Given the description of an element on the screen output the (x, y) to click on. 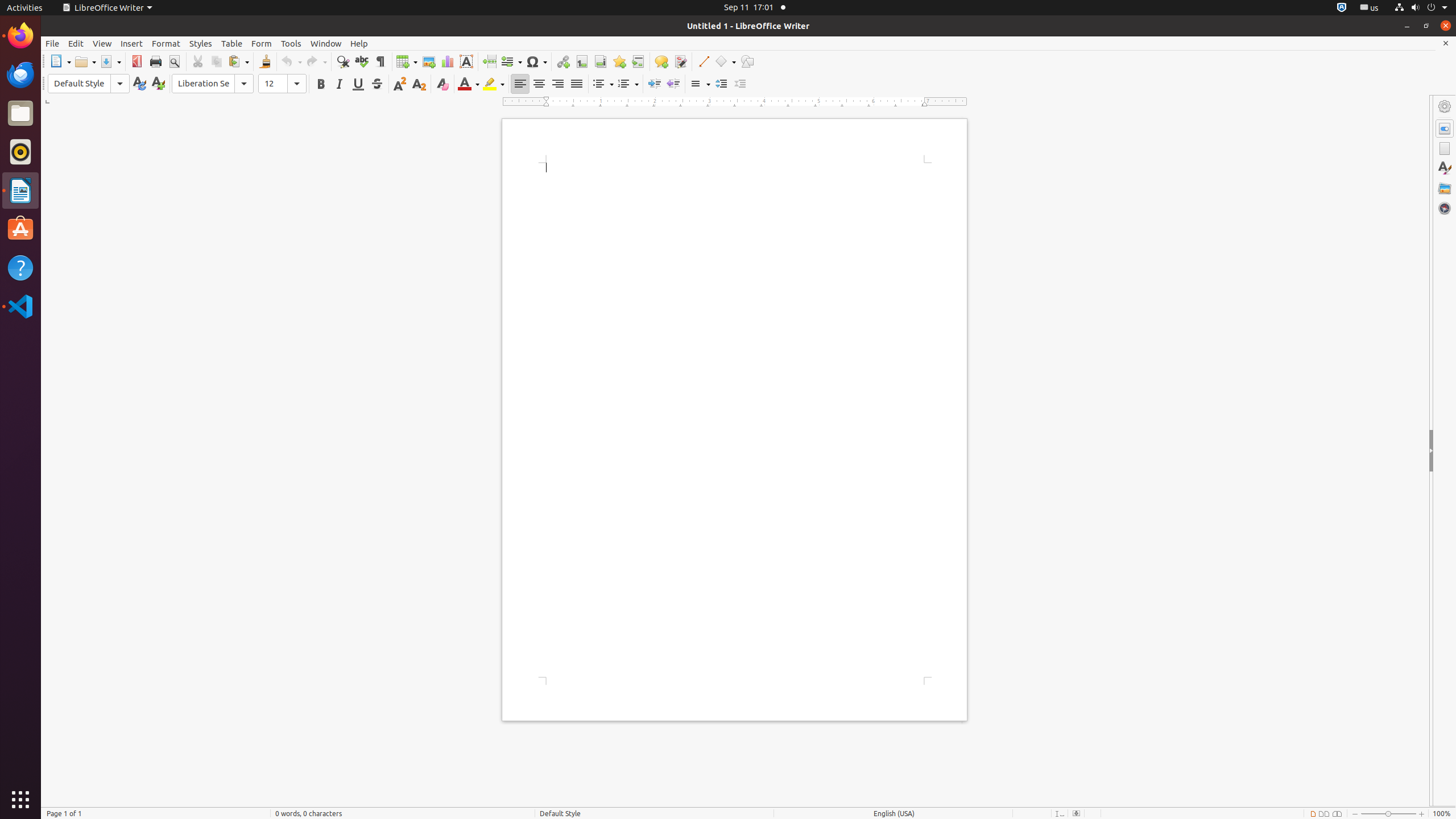
Gallery Element type: radio-button (1444, 188)
Endnote Element type: push-button (599, 61)
Line Element type: toggle-button (702, 61)
Print Element type: push-button (155, 61)
